Given the description of an element on the screen output the (x, y) to click on. 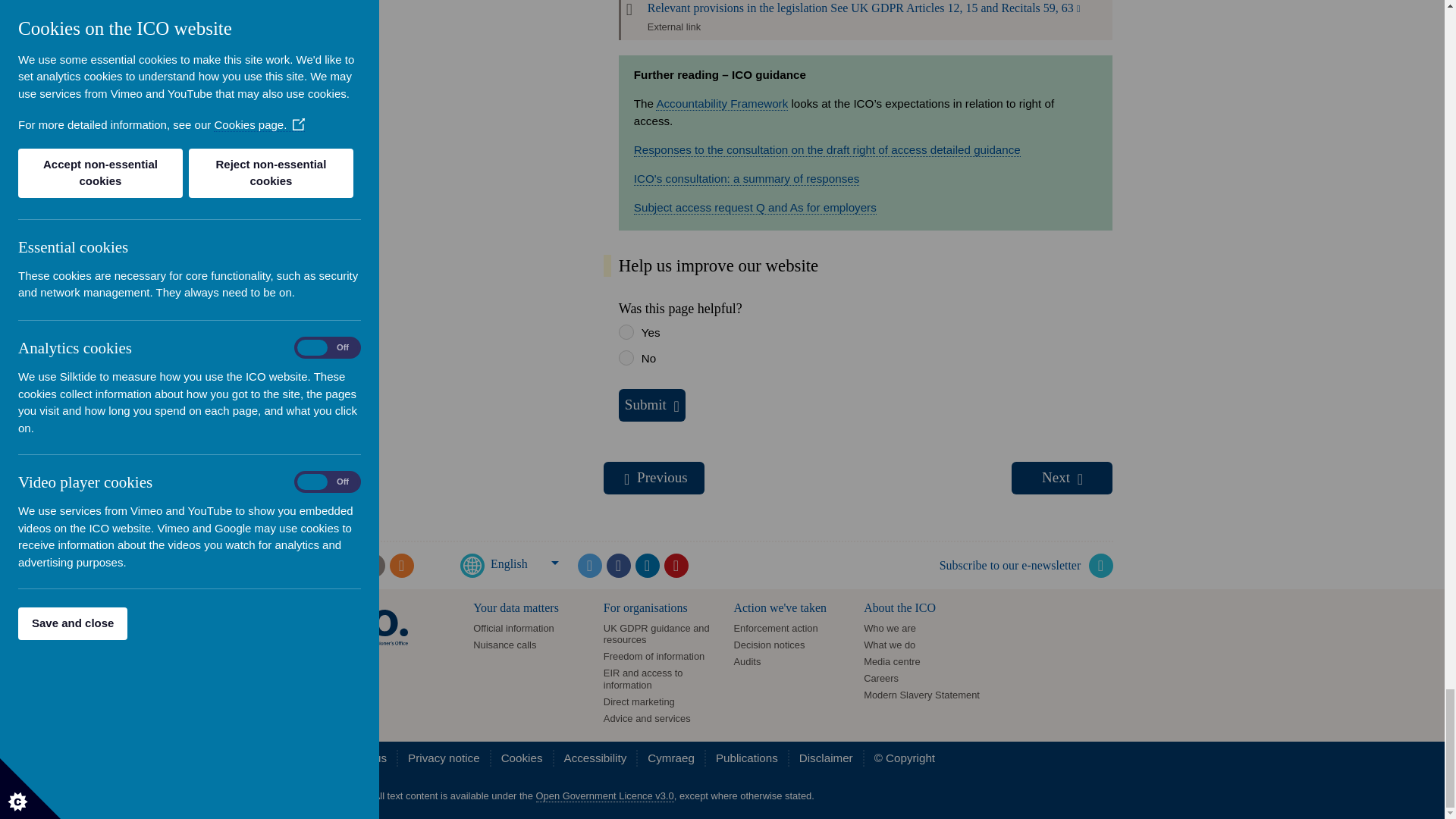
Language (472, 565)
Yes (625, 331)
Language Selector (537, 575)
No (625, 357)
